Given the description of an element on the screen output the (x, y) to click on. 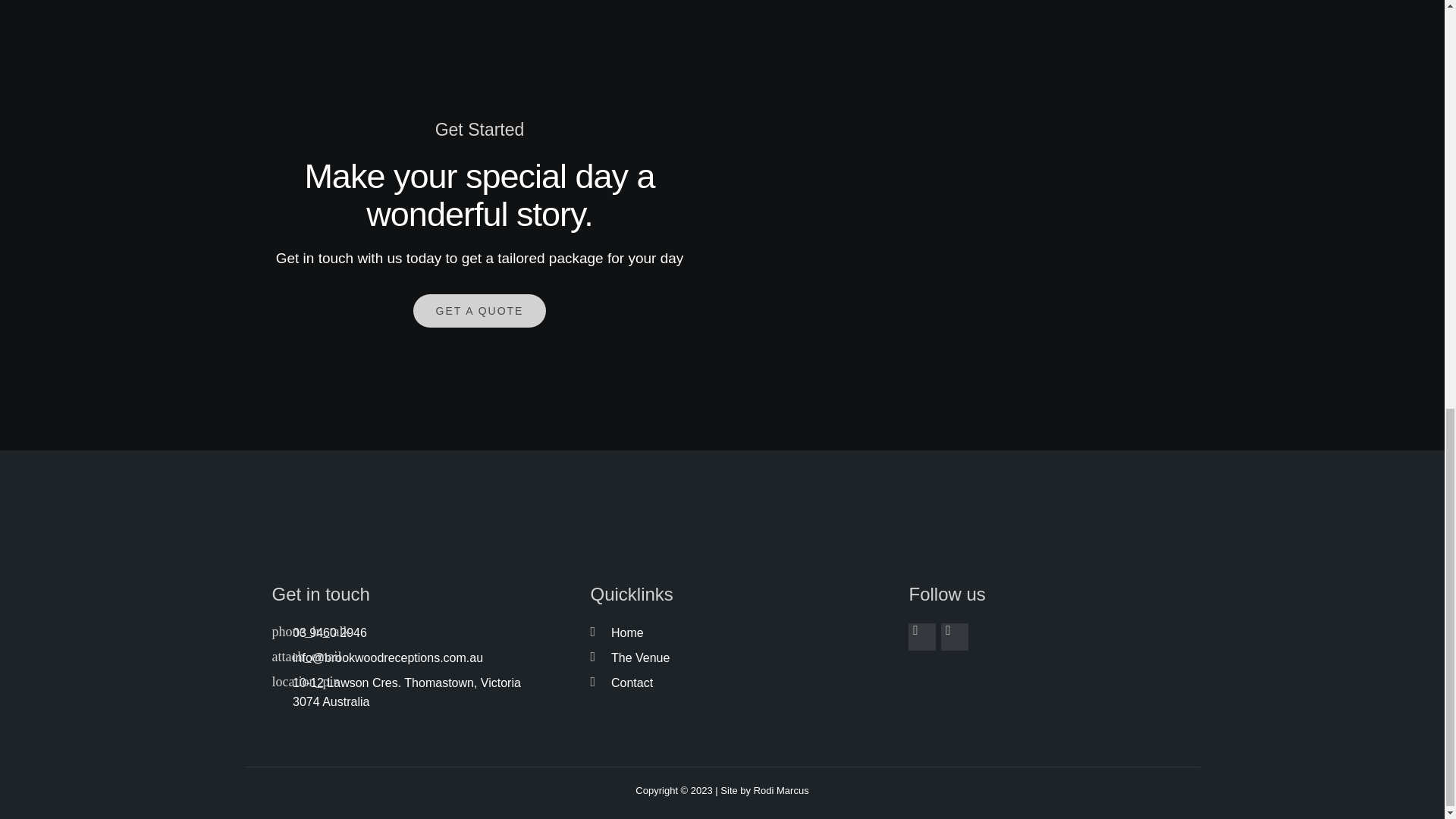
Home (721, 632)
GET A QUOTE (480, 310)
The Venue (721, 658)
Contact (721, 682)
